Given the description of an element on the screen output the (x, y) to click on. 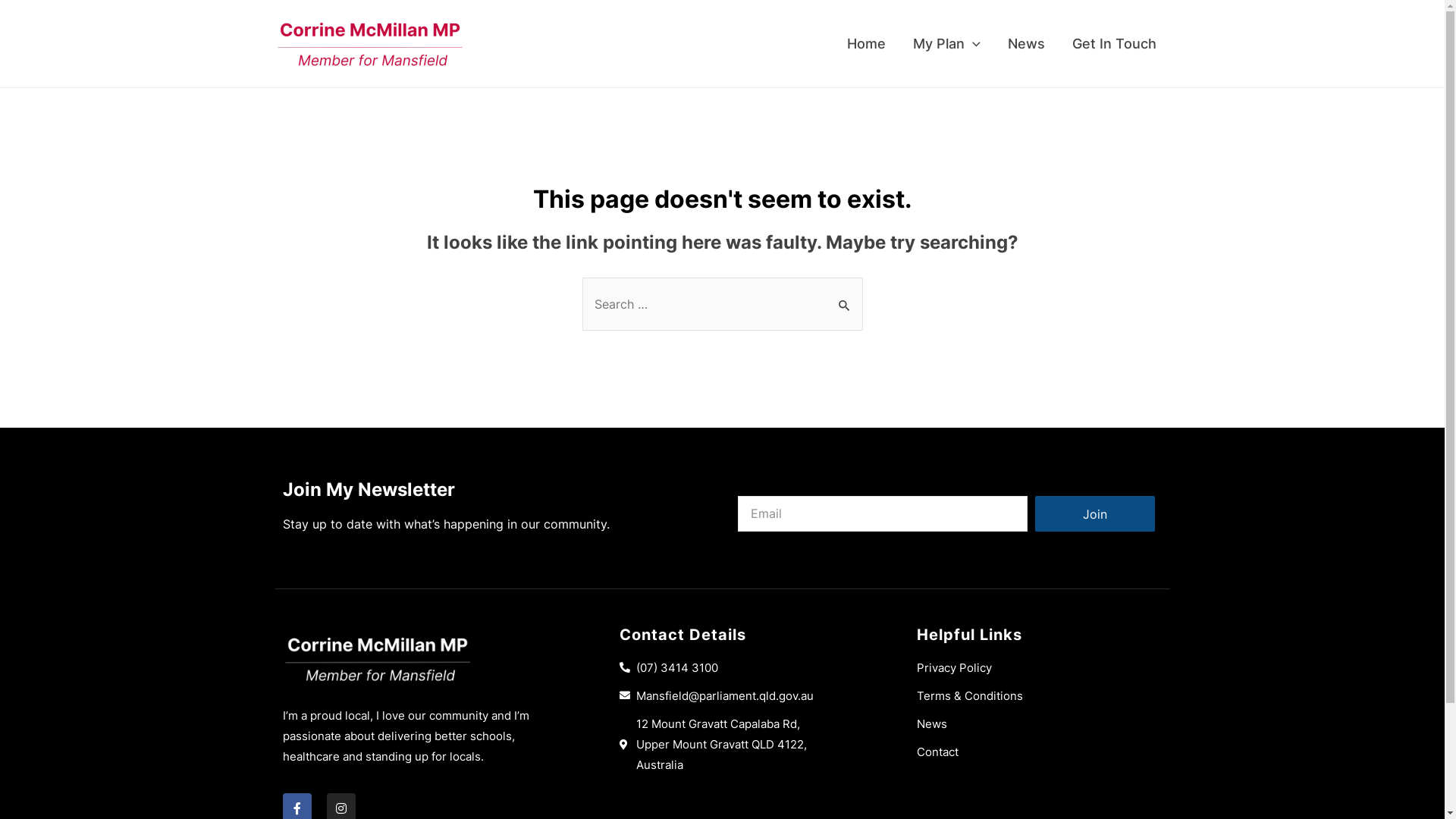
Home Element type: text (866, 43)
News Element type: text (1039, 723)
Mansfield@parliament.qld.gov.au Element type: text (742, 695)
Contact Element type: text (1039, 751)
Terms & Conditions Element type: text (1039, 695)
Privacy Policy Element type: text (1039, 667)
News Element type: text (1025, 43)
Search Element type: text (845, 293)
Join Element type: text (1094, 513)
Get In Touch Element type: text (1114, 43)
(07) 3414 3100 Element type: text (742, 667)
My Plan Element type: text (946, 43)
